Given the description of an element on the screen output the (x, y) to click on. 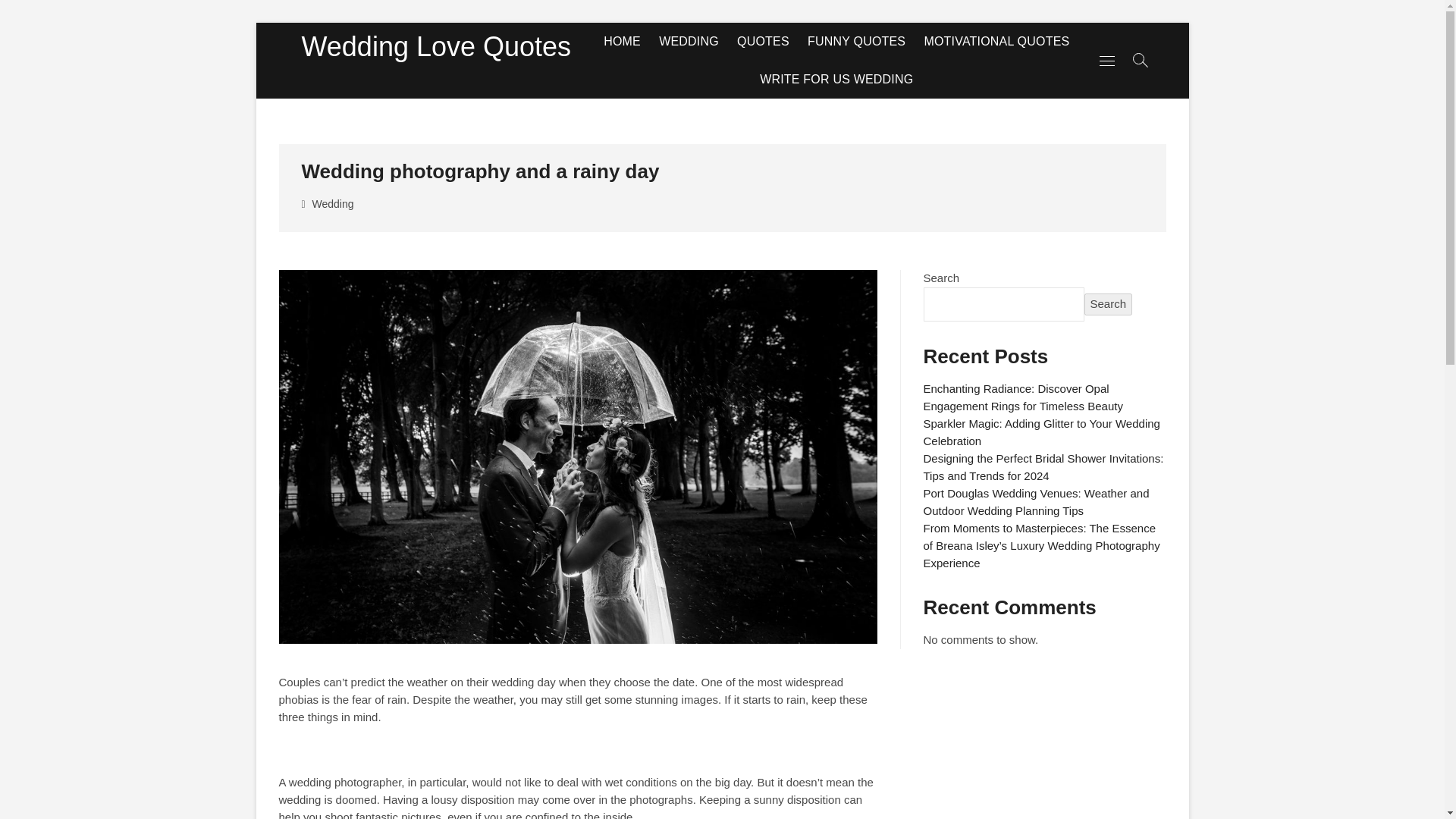
FUNNY QUOTES (855, 41)
WEDDING (688, 41)
Wedding Love Quotes (436, 46)
Menu Button (1106, 60)
Wedding Love Quotes (436, 46)
HOME (621, 41)
Wedding (335, 205)
